Given the description of an element on the screen output the (x, y) to click on. 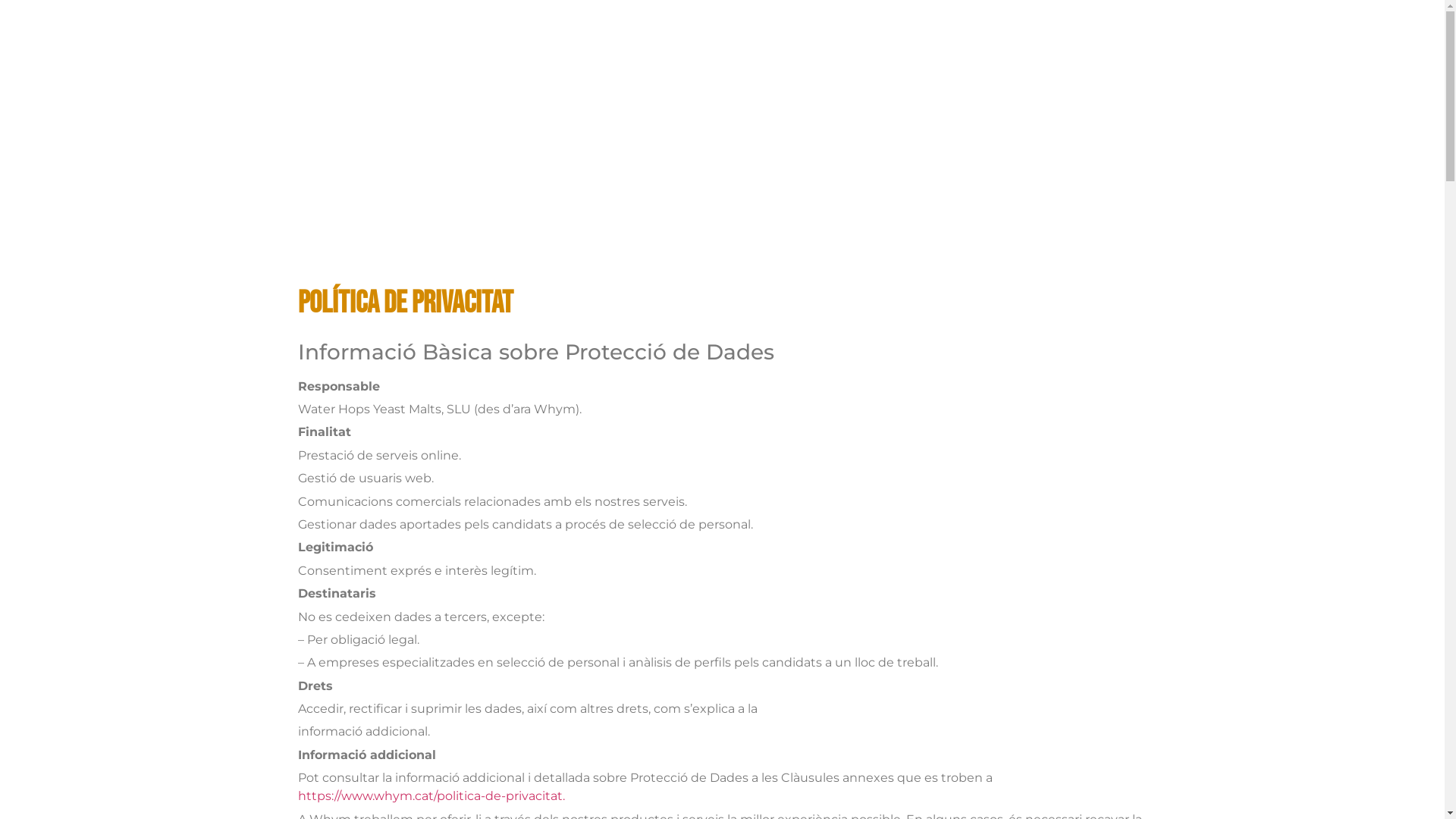
https://www. Element type: text (335, 795)
whym.cat/politica-de-privacitat. Element type: text (468, 795)
